Given the description of an element on the screen output the (x, y) to click on. 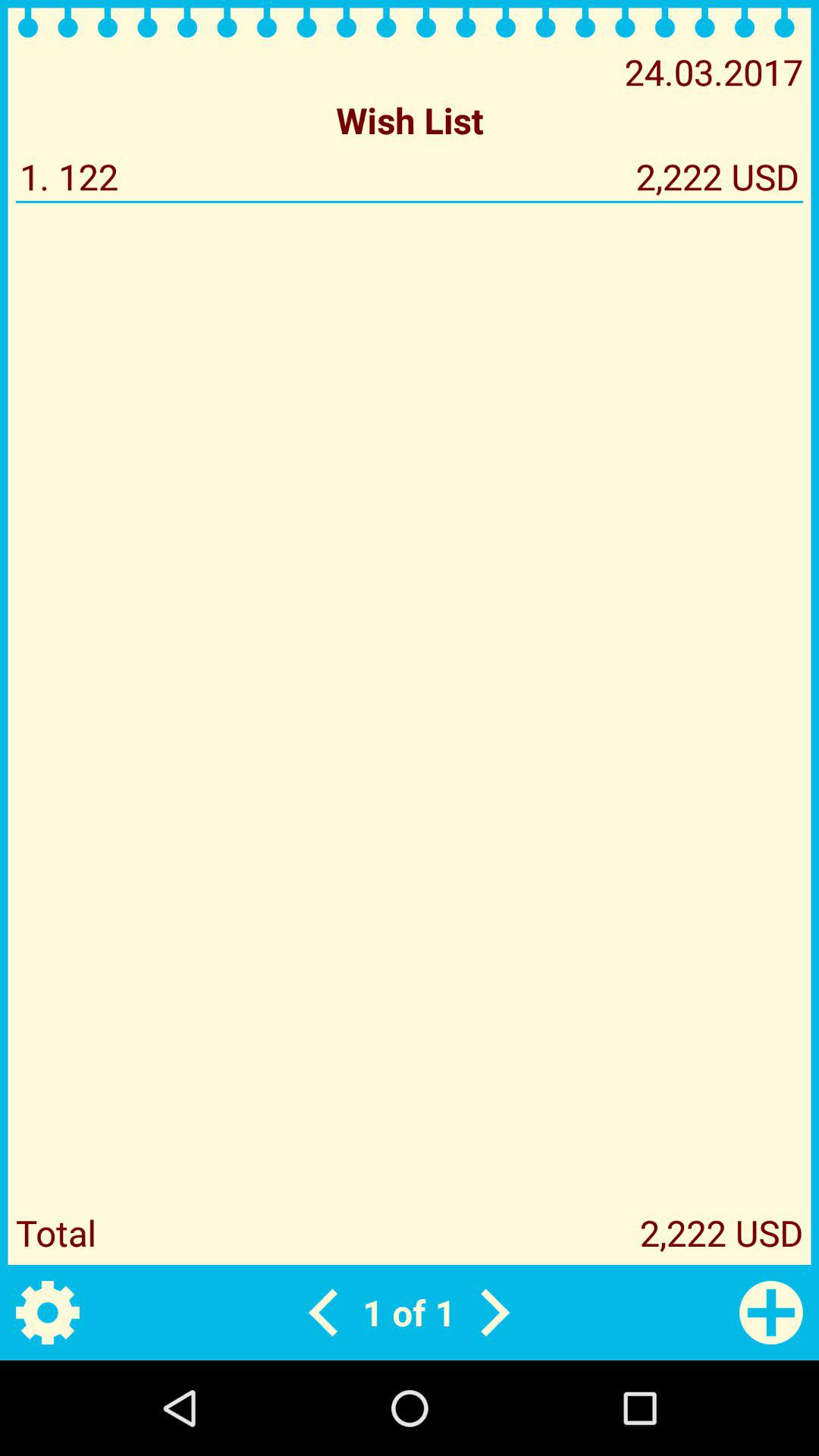
scroll to wish list app (409, 120)
